Given the description of an element on the screen output the (x, y) to click on. 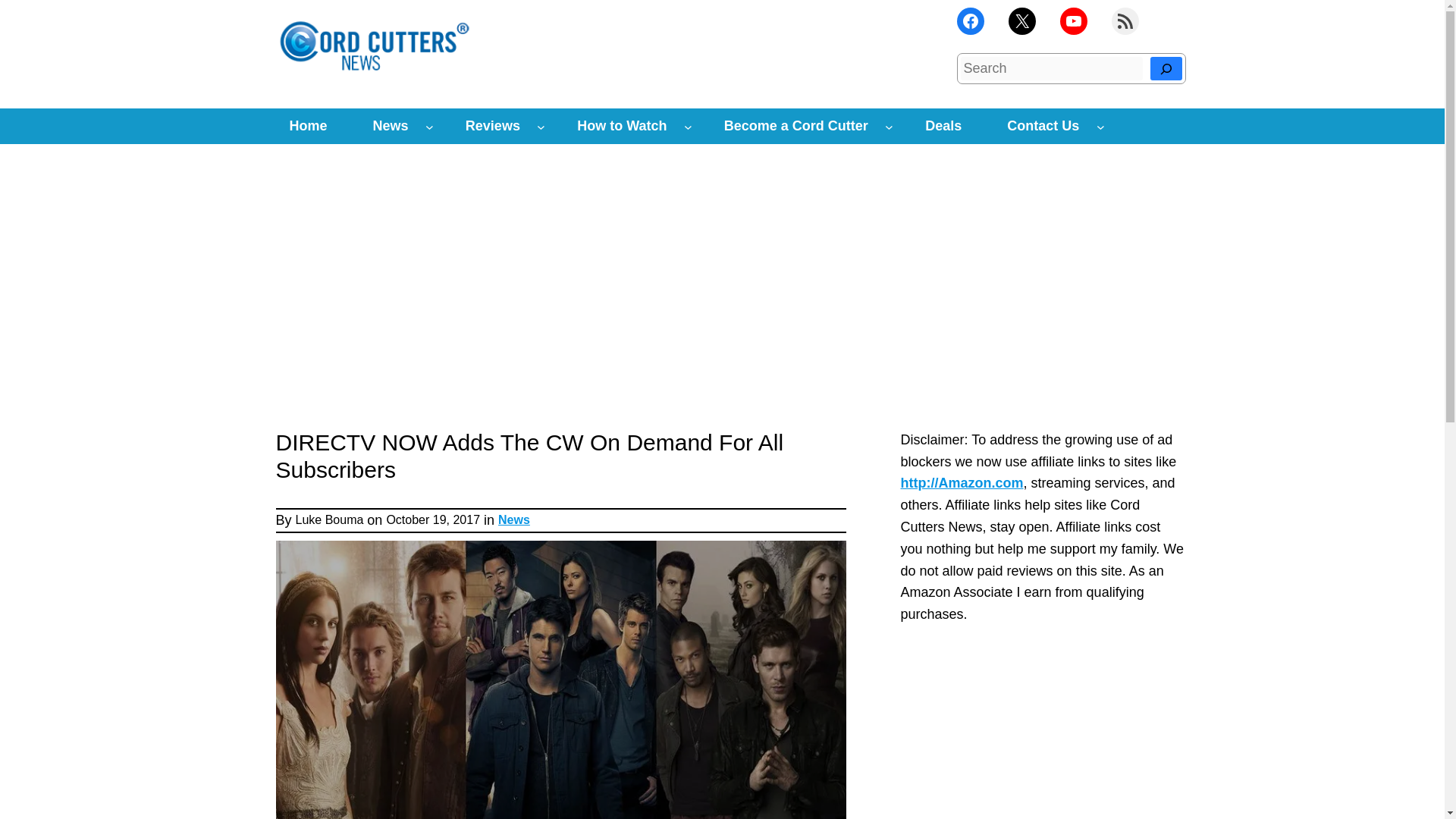
Facebook (970, 21)
RSS Feed (1125, 21)
YouTube (1073, 21)
News (390, 126)
Reviews (492, 126)
X (1022, 21)
Home (308, 126)
